Given the description of an element on the screen output the (x, y) to click on. 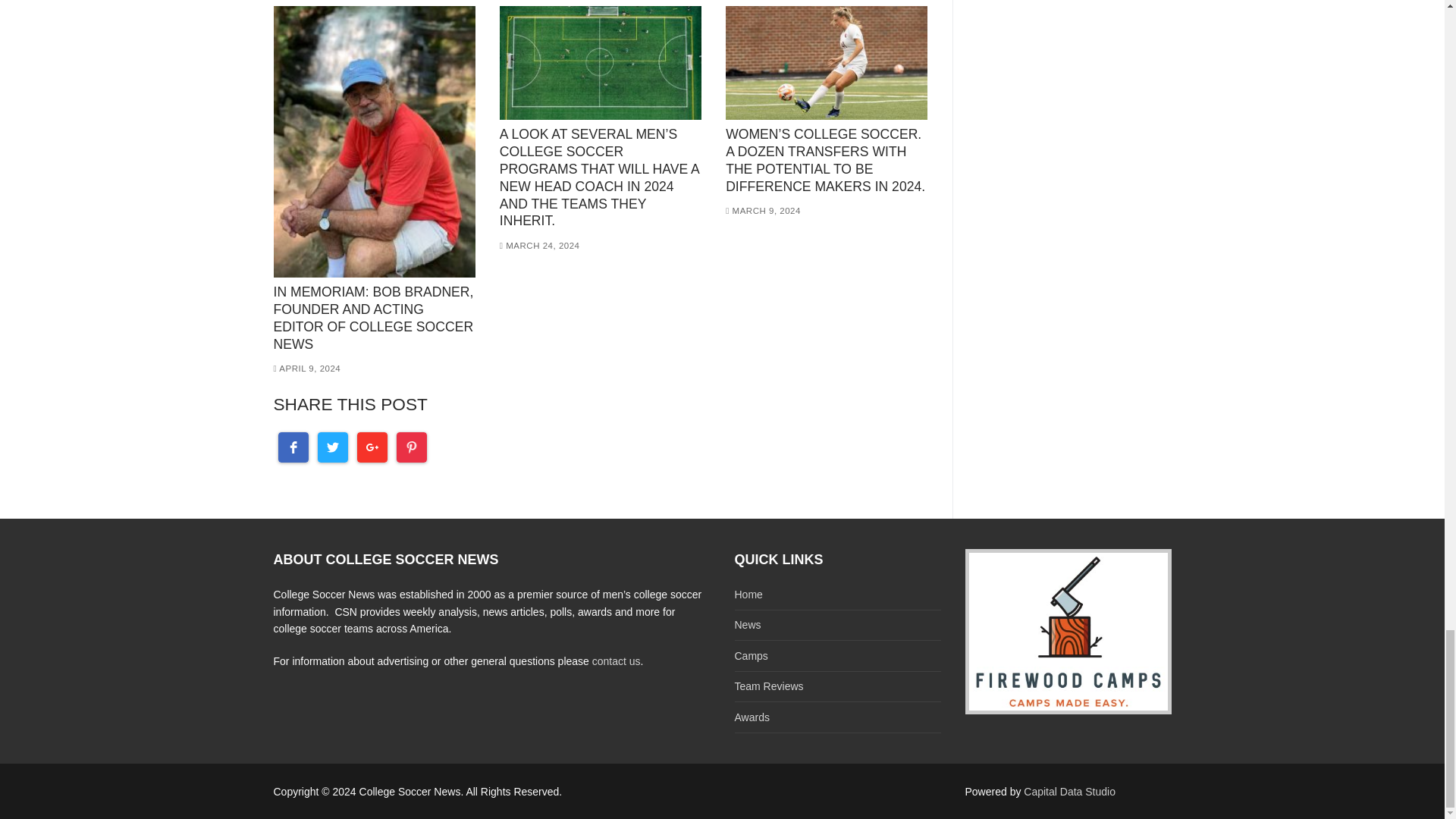
Pinterest (411, 447)
Twitter (332, 447)
Facebook (292, 447)
